Given the description of an element on the screen output the (x, y) to click on. 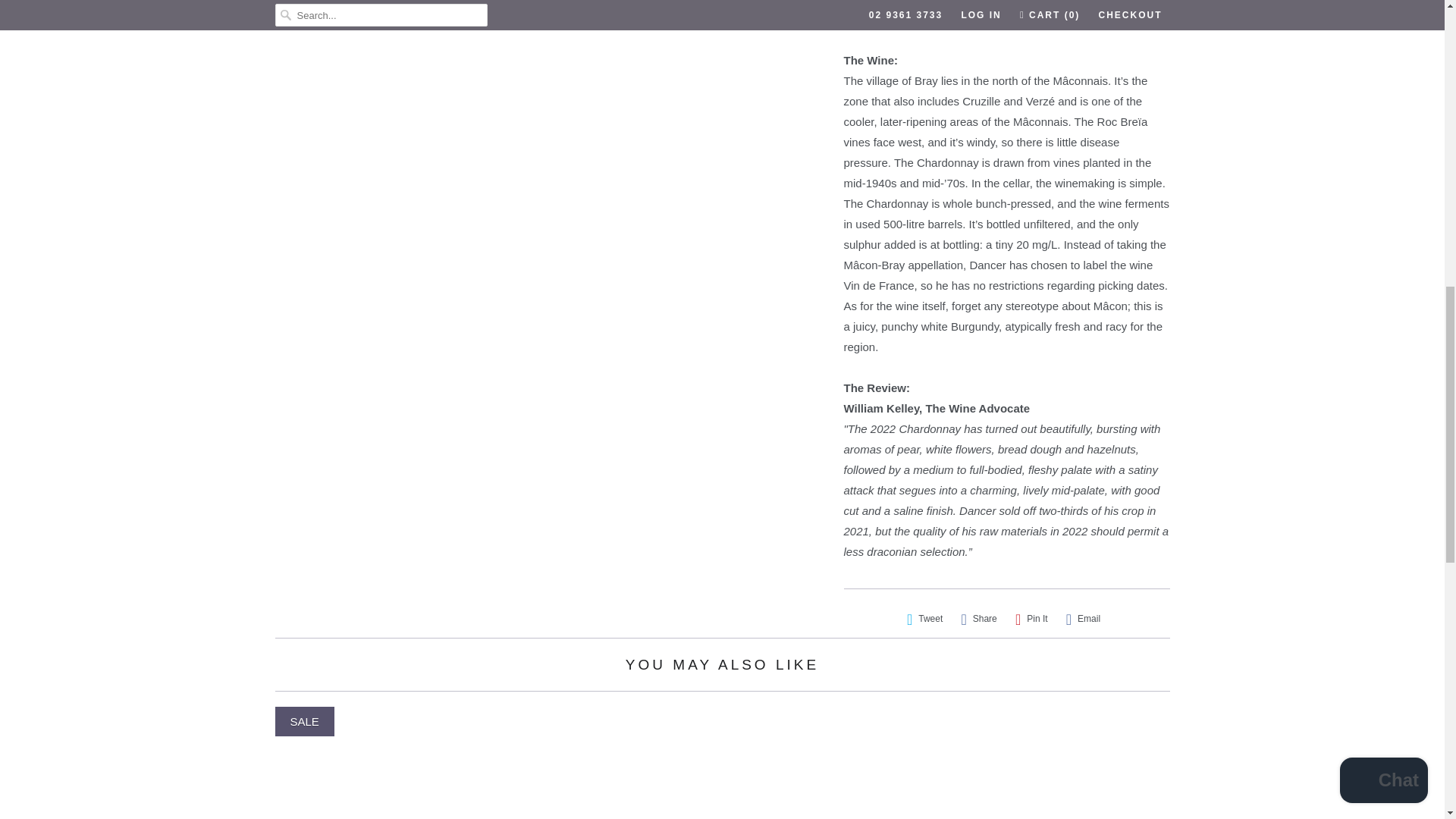
Share this on Twitter (924, 618)
Share this on Facebook (978, 618)
Email this to a friend (1083, 618)
Share this on Pinterest (1031, 618)
